Given the description of an element on the screen output the (x, y) to click on. 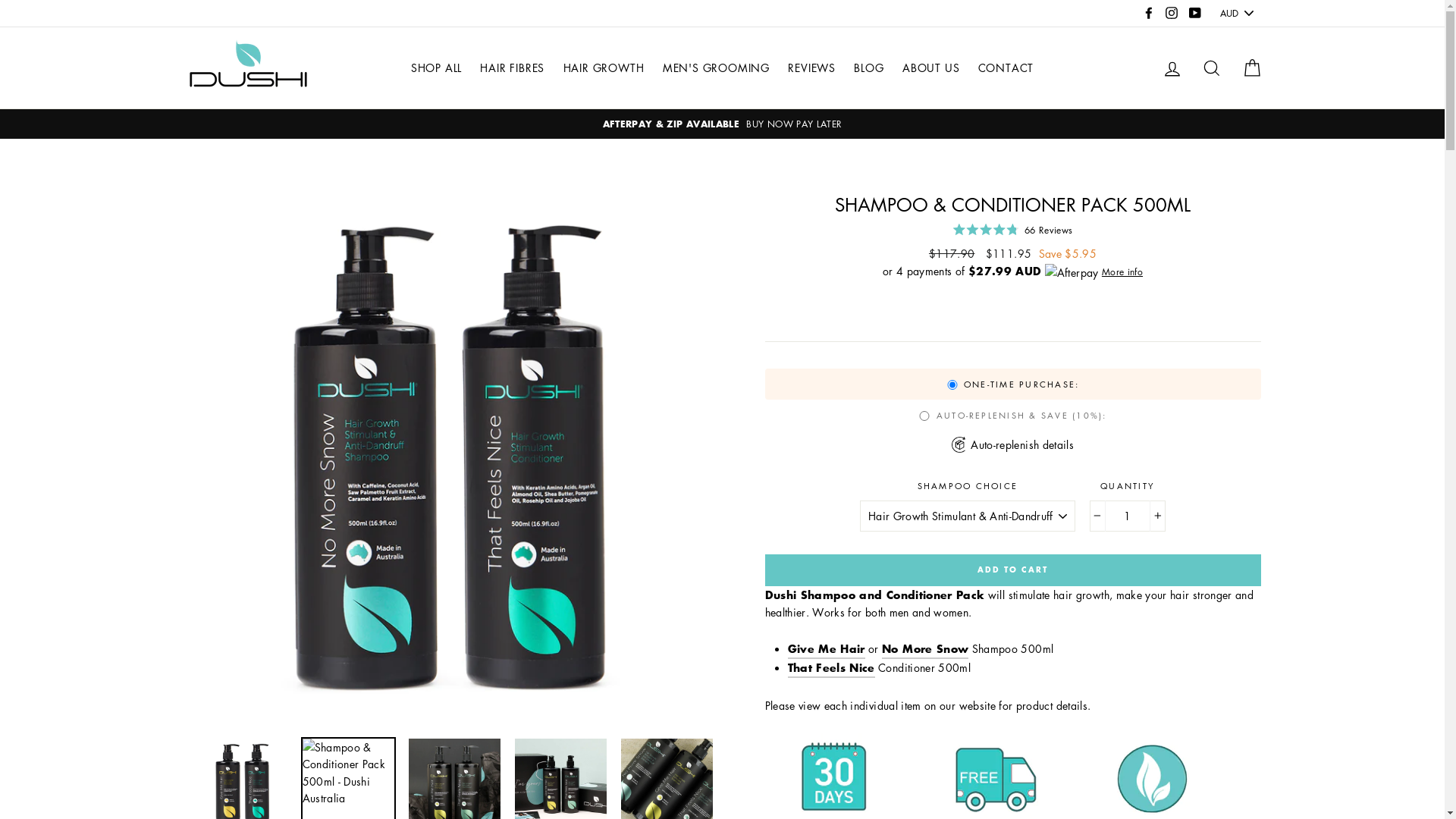
YouTube Element type: text (1194, 13)
No More Snow Element type: text (924, 649)
Give Me Hair Element type: text (825, 649)
BLOG Element type: text (868, 67)
That Feels Nice Element type: text (830, 667)
HAIR GROWTH Element type: text (603, 67)
CONTACT Element type: text (1005, 67)
Facebook Element type: text (1148, 13)
CART Element type: text (1251, 67)
Instagram Element type: text (1171, 13)
ADD TO CART Element type: text (1012, 570)
ABOUT US Element type: text (930, 67)
SEARCH Element type: text (1211, 67)
LOG IN Element type: text (1172, 67)
+ Element type: text (1157, 515)
Skip to content Element type: text (0, 0)
SHOP ALL Element type: text (436, 67)
More info Element type: text (1121, 270)
MEN'S GROOMING Element type: text (716, 67)
REVIEWS Element type: text (811, 67)
HAIR FIBRES Element type: text (512, 67)
